Given the description of an element on the screen output the (x, y) to click on. 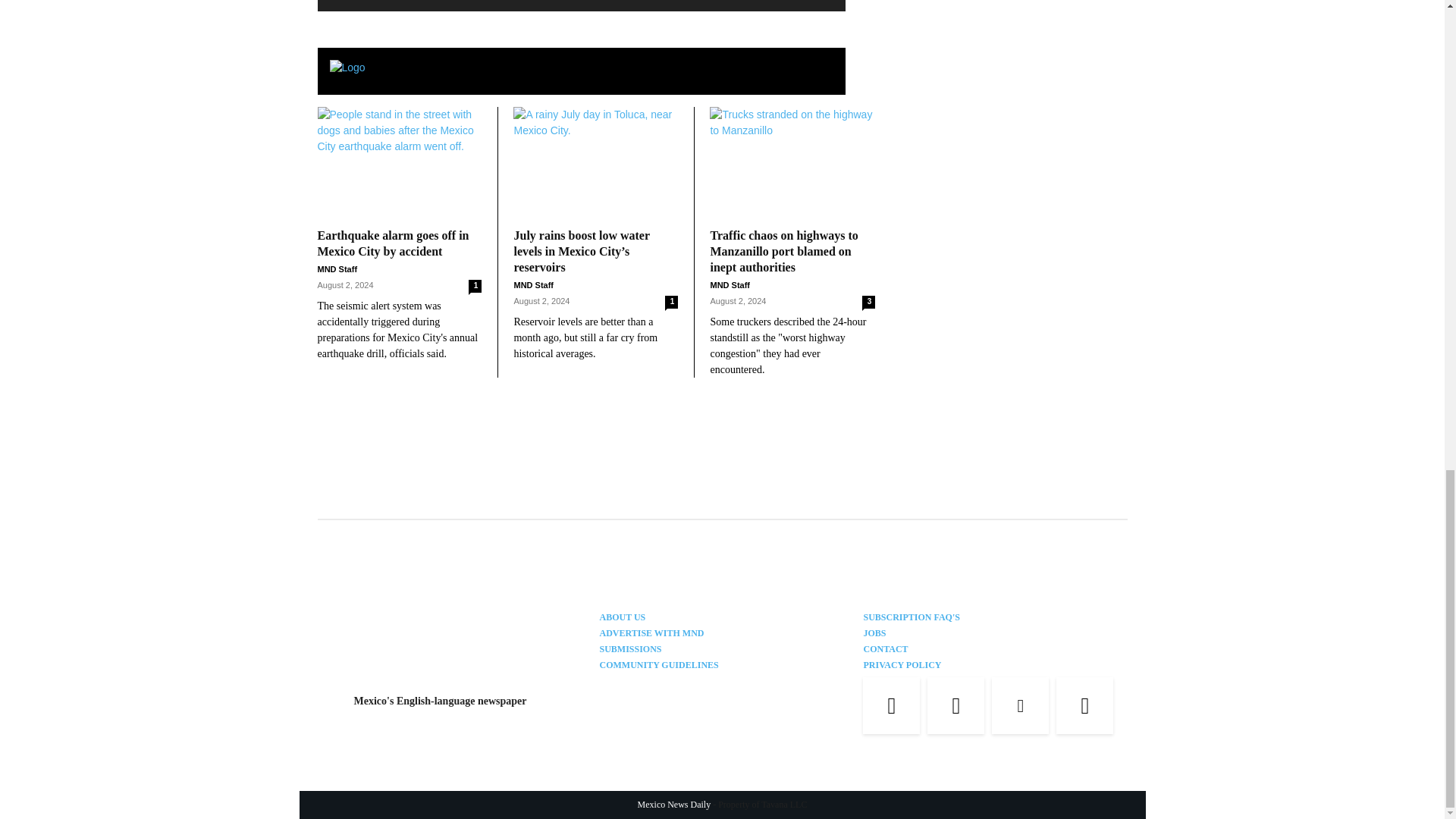
Earthquake alarm goes off in Mexico City by accident (399, 163)
